Given the description of an element on the screen output the (x, y) to click on. 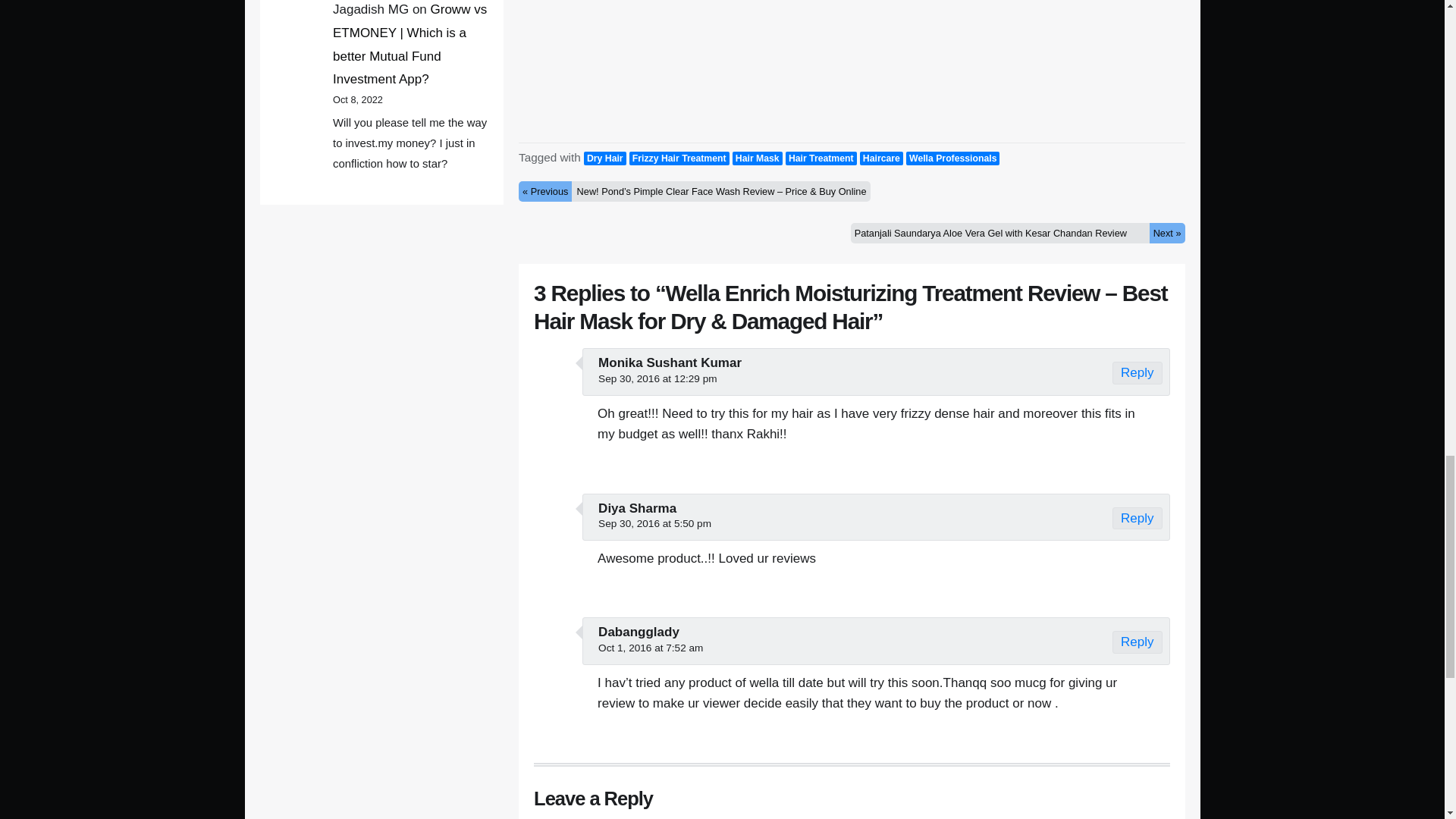
Wella Professionals (951, 158)
Hair Mask (757, 158)
Haircare (881, 158)
Reply (1136, 641)
Oct 1, 2016 at 7:52 am (650, 647)
Frizzy Hair Treatment (678, 158)
Reply (1136, 372)
Reply (1136, 517)
Hair Treatment (821, 158)
Dry Hair (604, 158)
